Given the description of an element on the screen output the (x, y) to click on. 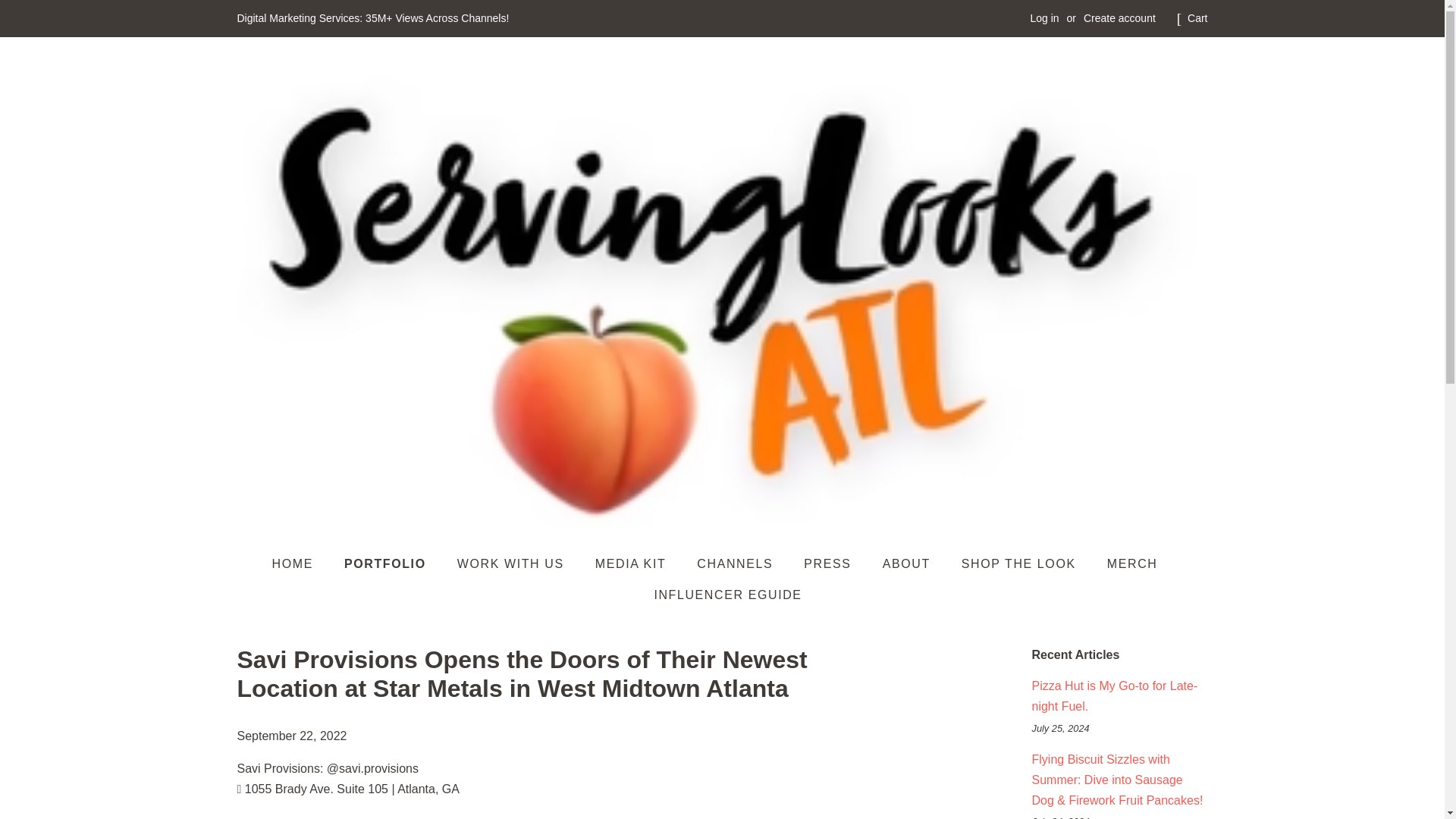
CHANNELS (736, 563)
Cart (1197, 18)
WORK WITH US (512, 563)
MEDIA KIT (632, 563)
SHOP THE LOOK (1020, 563)
INFLUENCER EGUIDE (722, 594)
Create account (1119, 18)
HOME (300, 563)
Log in (1043, 18)
ABOUT (907, 563)
PORTFOLIO (387, 563)
PRESS (829, 563)
MERCH (1134, 563)
Pizza Hut is My Go-to for Late-night Fuel. (1113, 695)
